Given the description of an element on the screen output the (x, y) to click on. 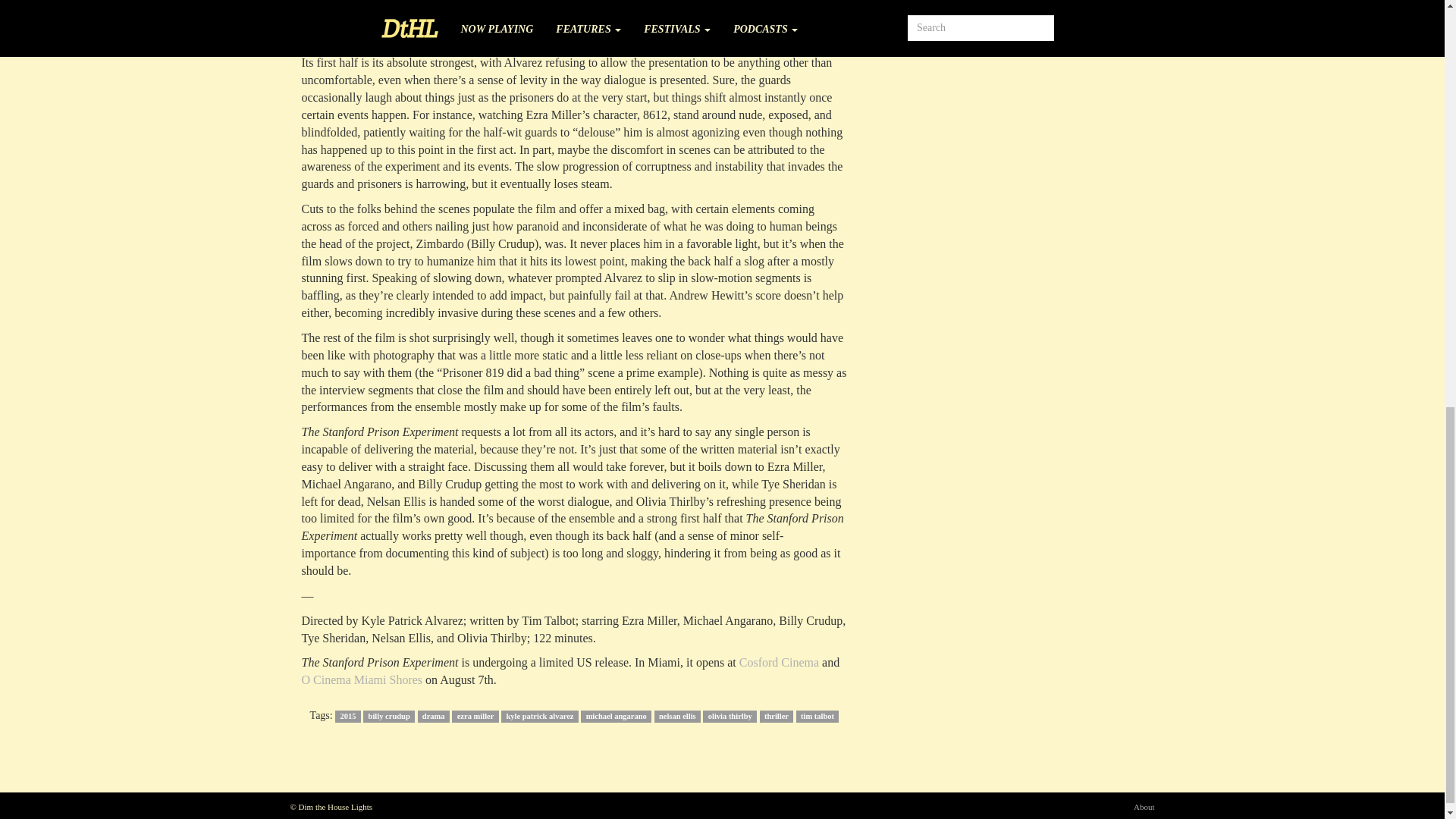
kyle patrick alvarez (539, 716)
O Cinema Miami Shores (362, 679)
billy crudup (388, 716)
Cosford Cinema (778, 662)
ezra miller (474, 716)
olivia thirlby (730, 716)
nelsan ellis (676, 716)
thriller (776, 716)
tim talbot (818, 716)
drama (433, 716)
2015 (347, 716)
michael angarano (615, 716)
